Given the description of an element on the screen output the (x, y) to click on. 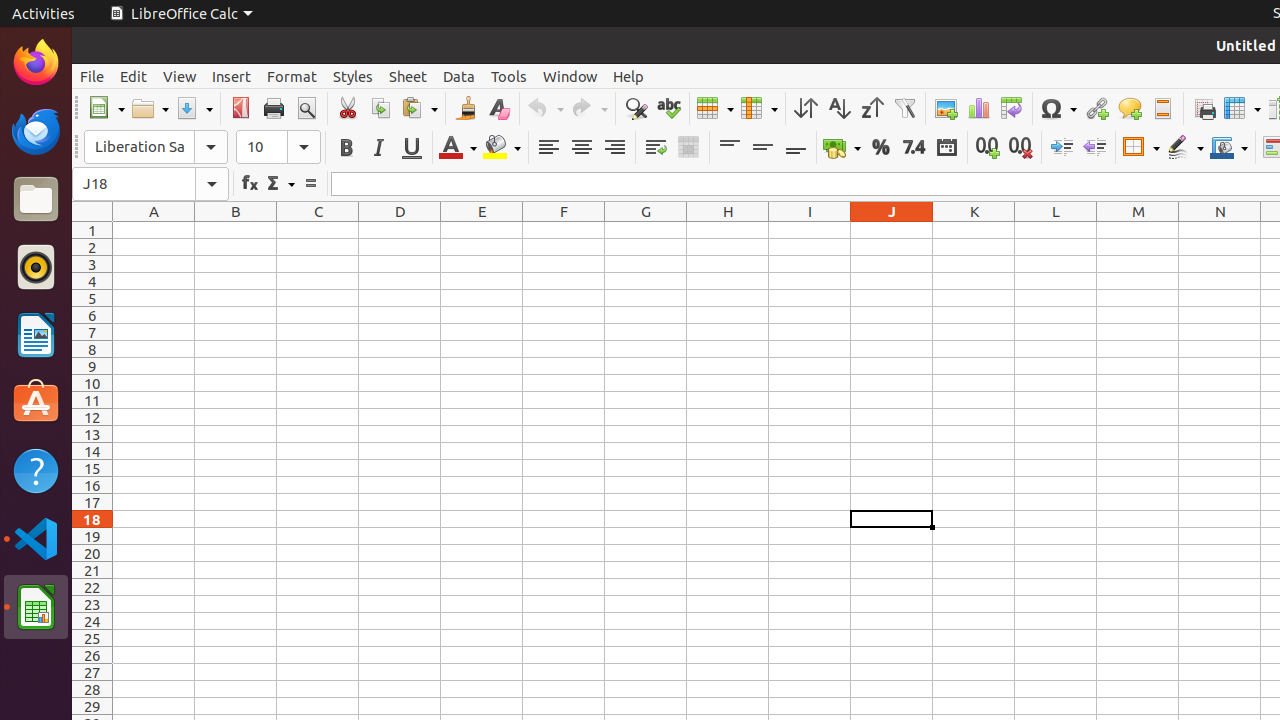
Sort Ascending Element type: push-button (838, 108)
Background Color Element type: push-button (502, 147)
Font Size Element type: text (261, 147)
D1 Element type: table-cell (400, 230)
